Given the description of an element on the screen output the (x, y) to click on. 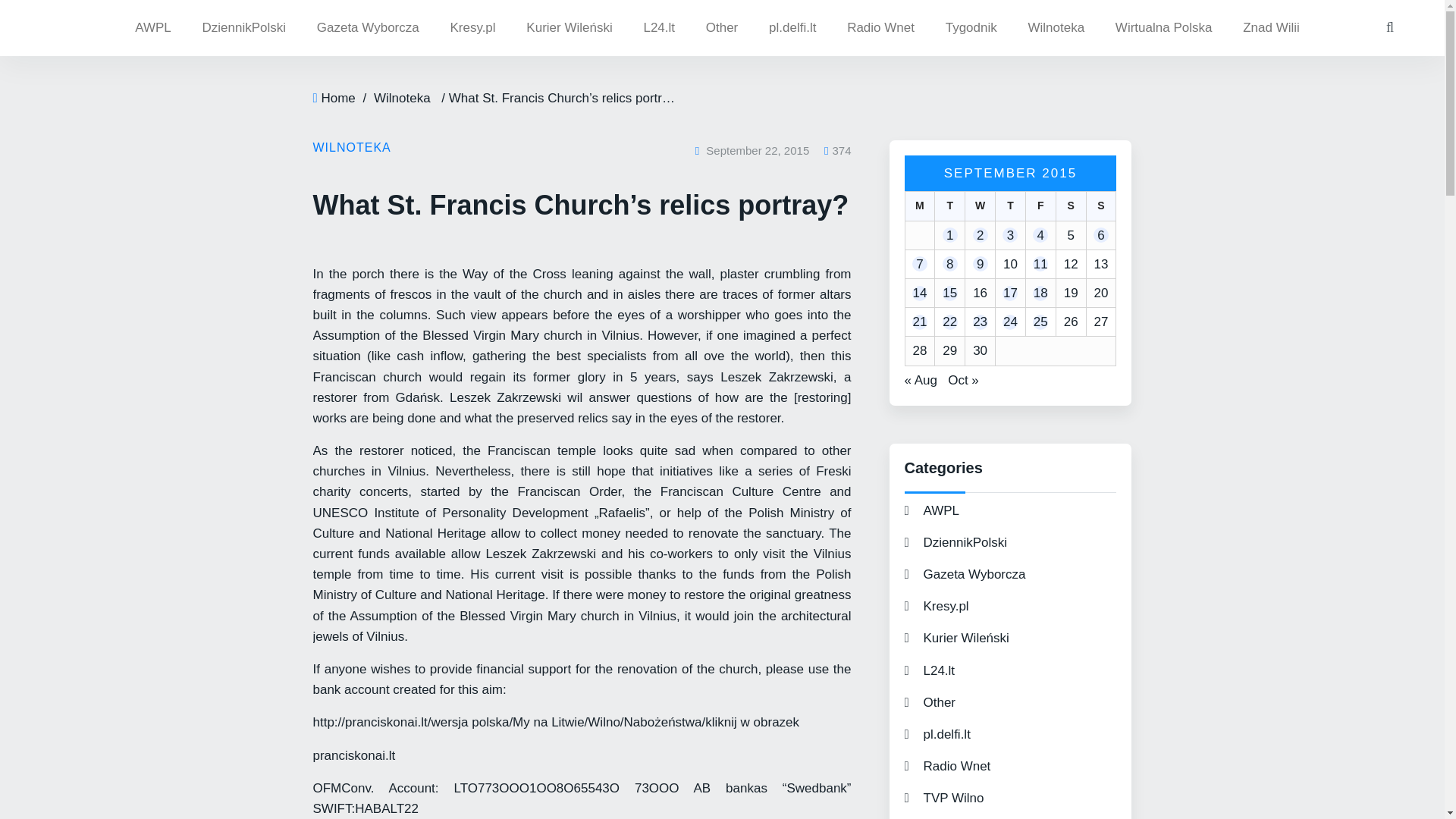
7 (919, 263)
Wednesday (978, 205)
6 (1101, 235)
Wilnoteka (1055, 28)
Sunday (1101, 205)
Other (722, 28)
Monday (919, 205)
Tuesday (948, 205)
3 (1010, 235)
L24.lt (658, 28)
